Given the description of an element on the screen output the (x, y) to click on. 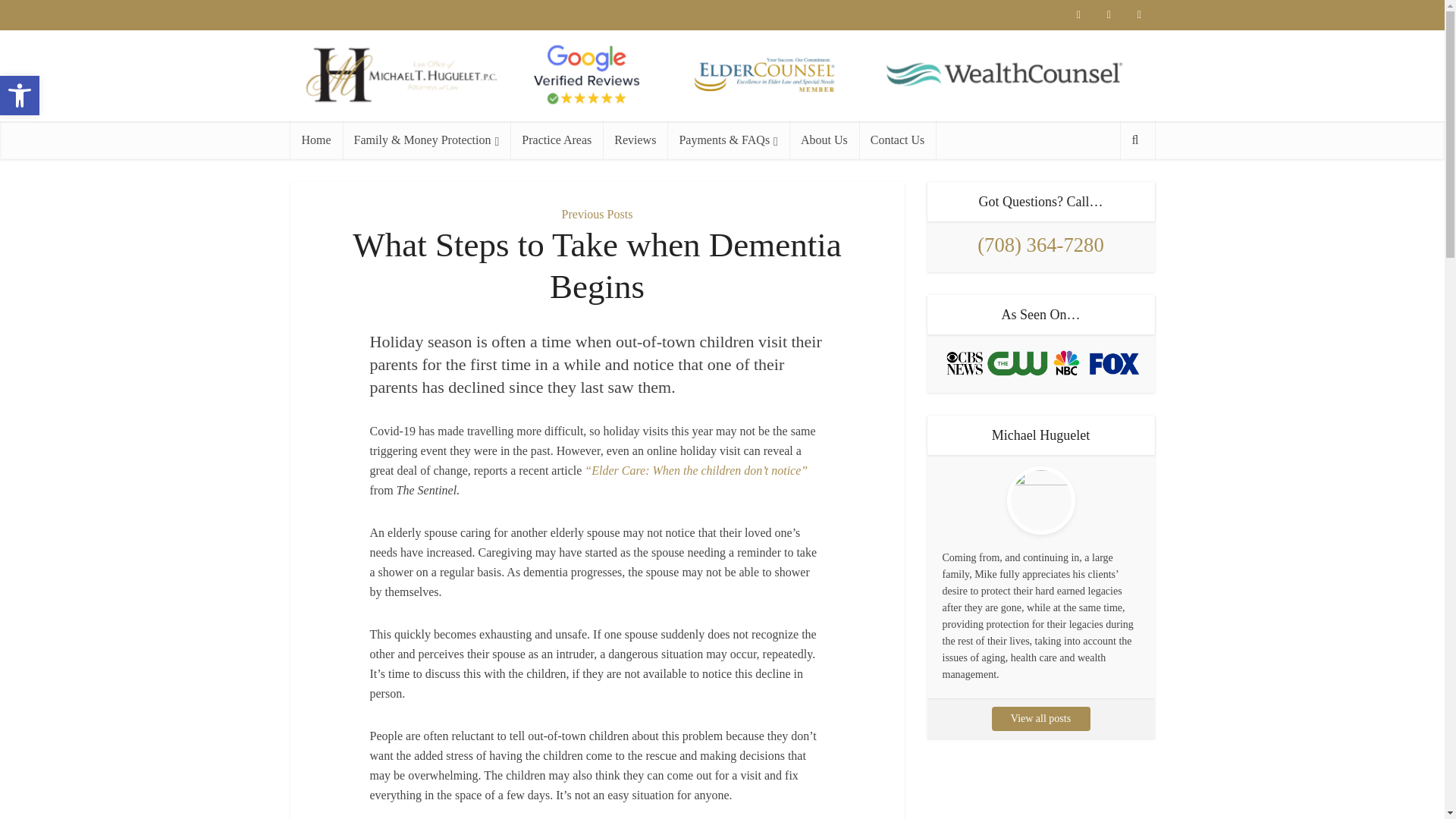
Accessibility Tools (19, 95)
Contact Us (897, 139)
Home (315, 139)
Practice Areas (556, 139)
About Us (824, 139)
Previous Posts (19, 95)
Reviews (597, 214)
Accessibility Tools (634, 139)
